Given the description of an element on the screen output the (x, y) to click on. 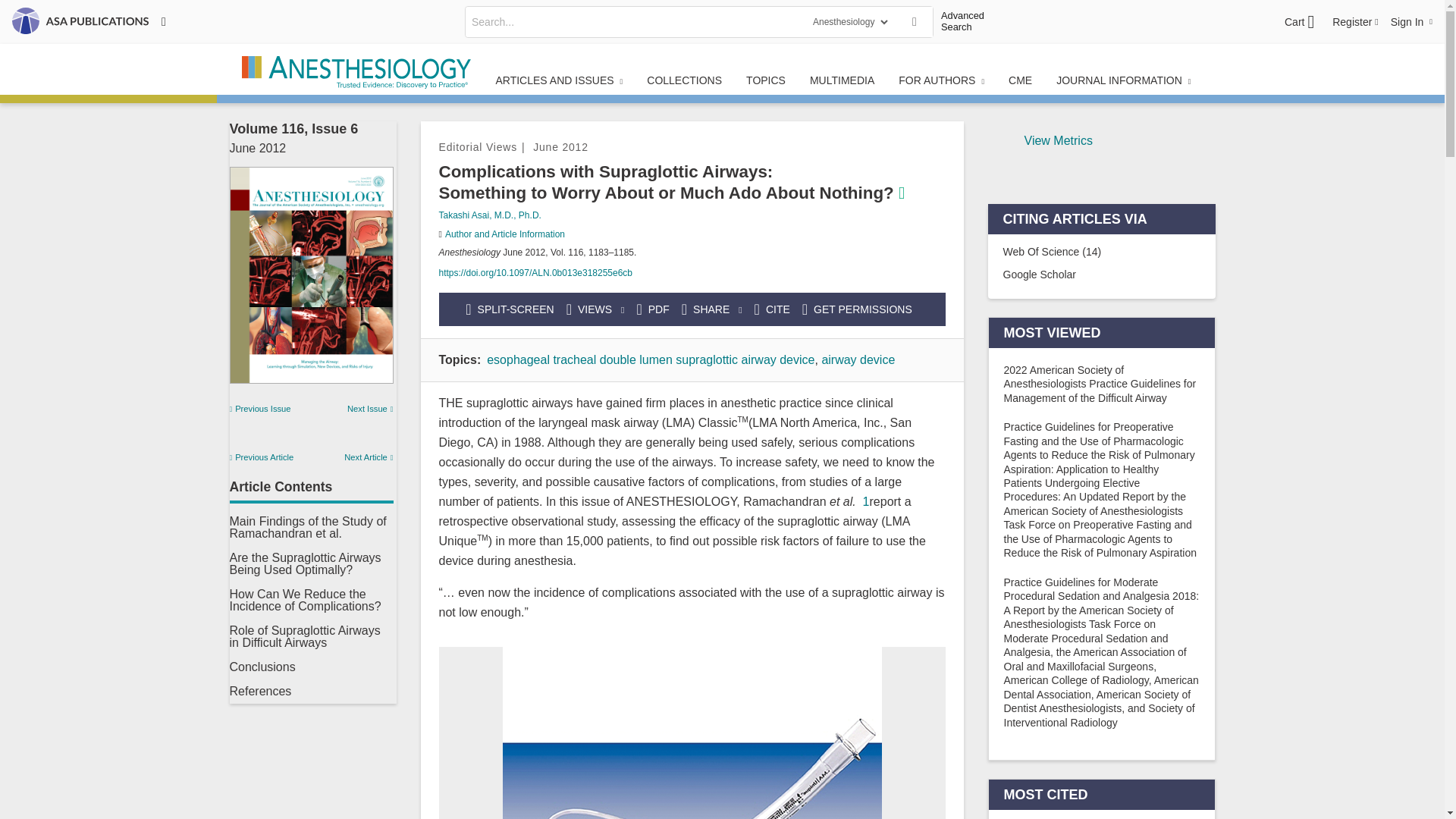
Cart (1299, 22)
COLLECTIONS (683, 80)
Register (1355, 21)
search input (634, 21)
Sign In (1411, 21)
Conclusions (261, 666)
TOPICS (765, 80)
FOR AUTHORS (940, 80)
Are the Supraglottic Airways Being Used Optimally? (304, 563)
How Can We Reduce the Incidence of Complications? (304, 600)
CME (1019, 80)
Main Findings of the Study of Ramachandran et al.  (306, 527)
JOURNAL INFORMATION (1122, 80)
Role of Supraglottic Airways in Difficult Airways (304, 636)
References (259, 690)
